Given the description of an element on the screen output the (x, y) to click on. 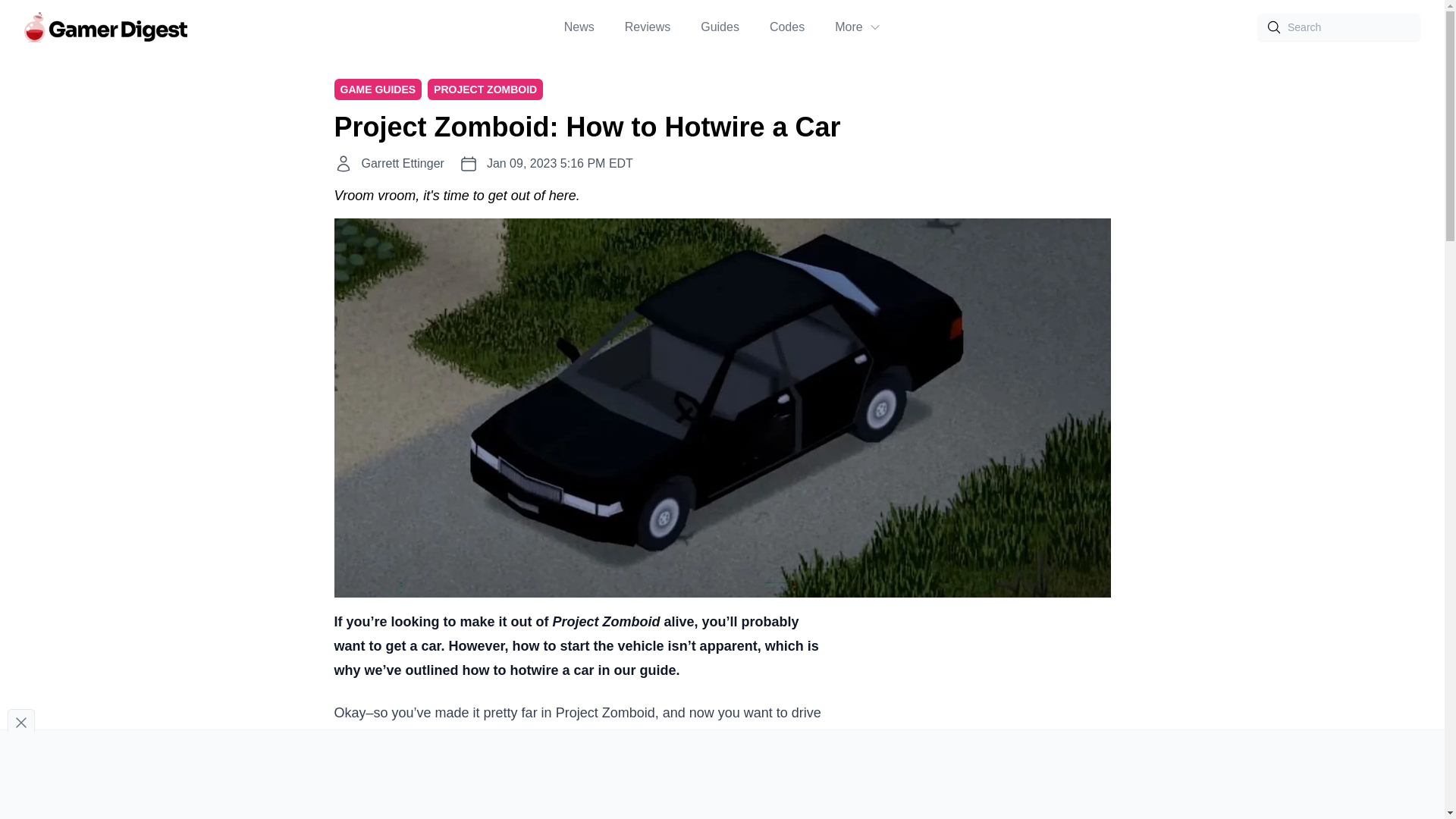
Guides (719, 27)
News (579, 27)
Garrett Ettinger (402, 163)
PROJECT ZOMBOID (485, 88)
Reviews (646, 27)
Codes (787, 27)
More (857, 27)
GAME GUIDES (377, 88)
